Given the description of an element on the screen output the (x, y) to click on. 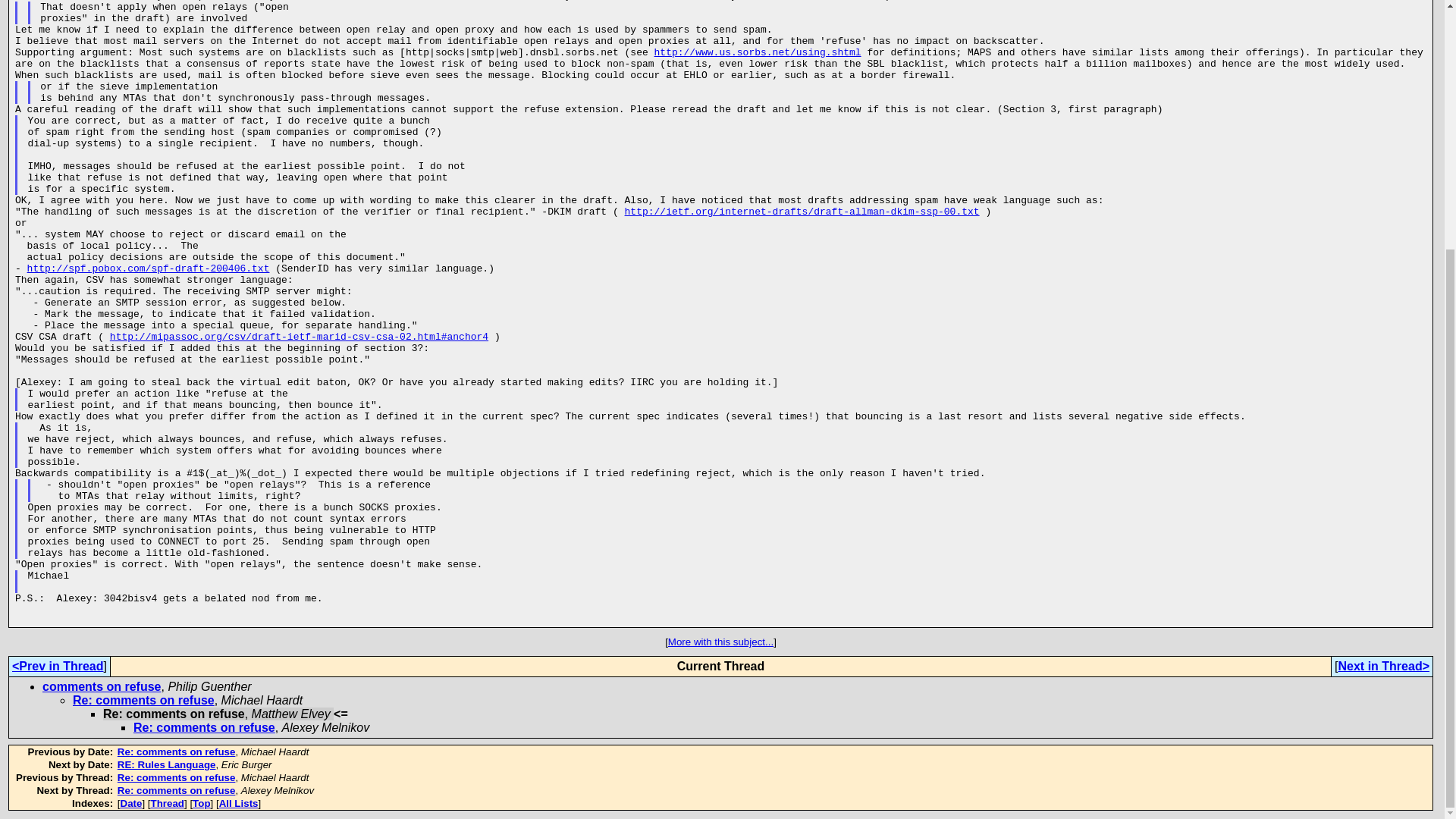
Re: comments on refuse (176, 790)
All Lists (239, 803)
Date (131, 803)
RE: Rules Language (166, 764)
Re: comments on refuse (176, 777)
Thread (167, 803)
Re: comments on refuse (176, 751)
Re: comments on refuse (204, 727)
Re: comments on refuse (143, 699)
More with this subject... (720, 641)
